Given the description of an element on the screen output the (x, y) to click on. 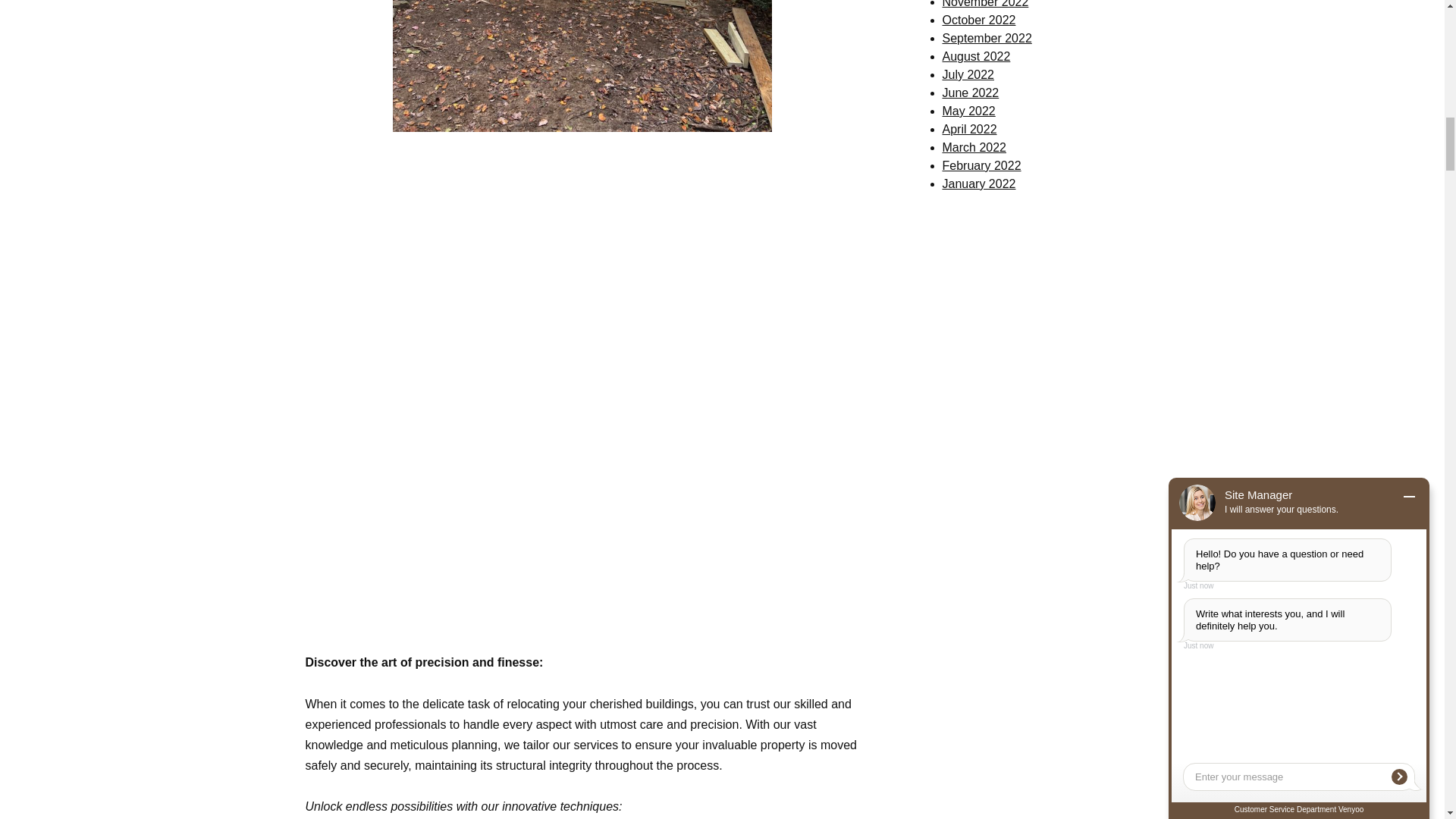
YouTube video player (581, 508)
YouTube video player (581, 263)
